Given the description of an element on the screen output the (x, y) to click on. 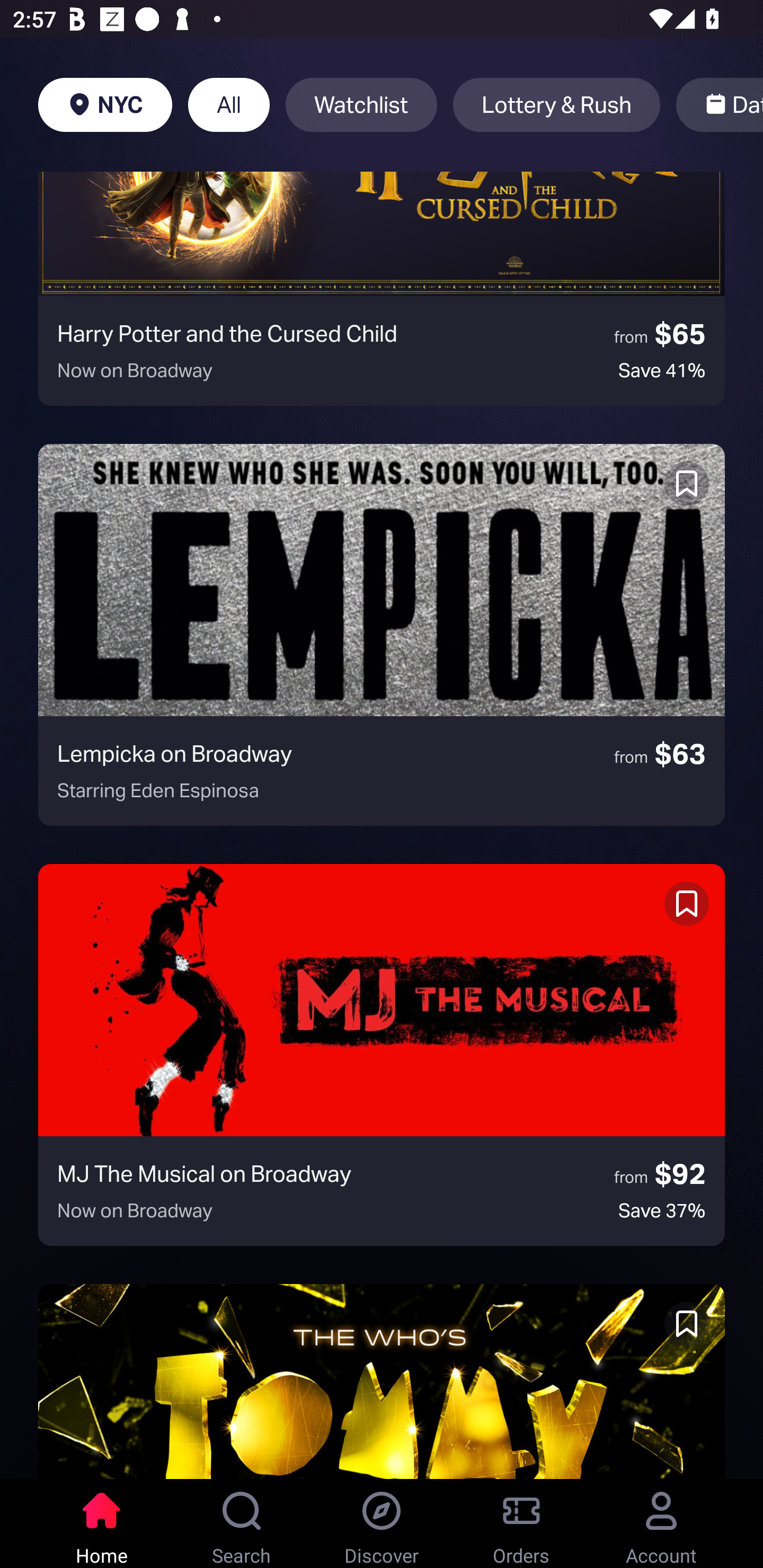
NYC (105, 104)
All (228, 104)
Watchlist (361, 104)
Lottery & Rush (556, 104)
Search (241, 1523)
Discover (381, 1523)
Orders (521, 1523)
Account (660, 1523)
